Given the description of an element on the screen output the (x, y) to click on. 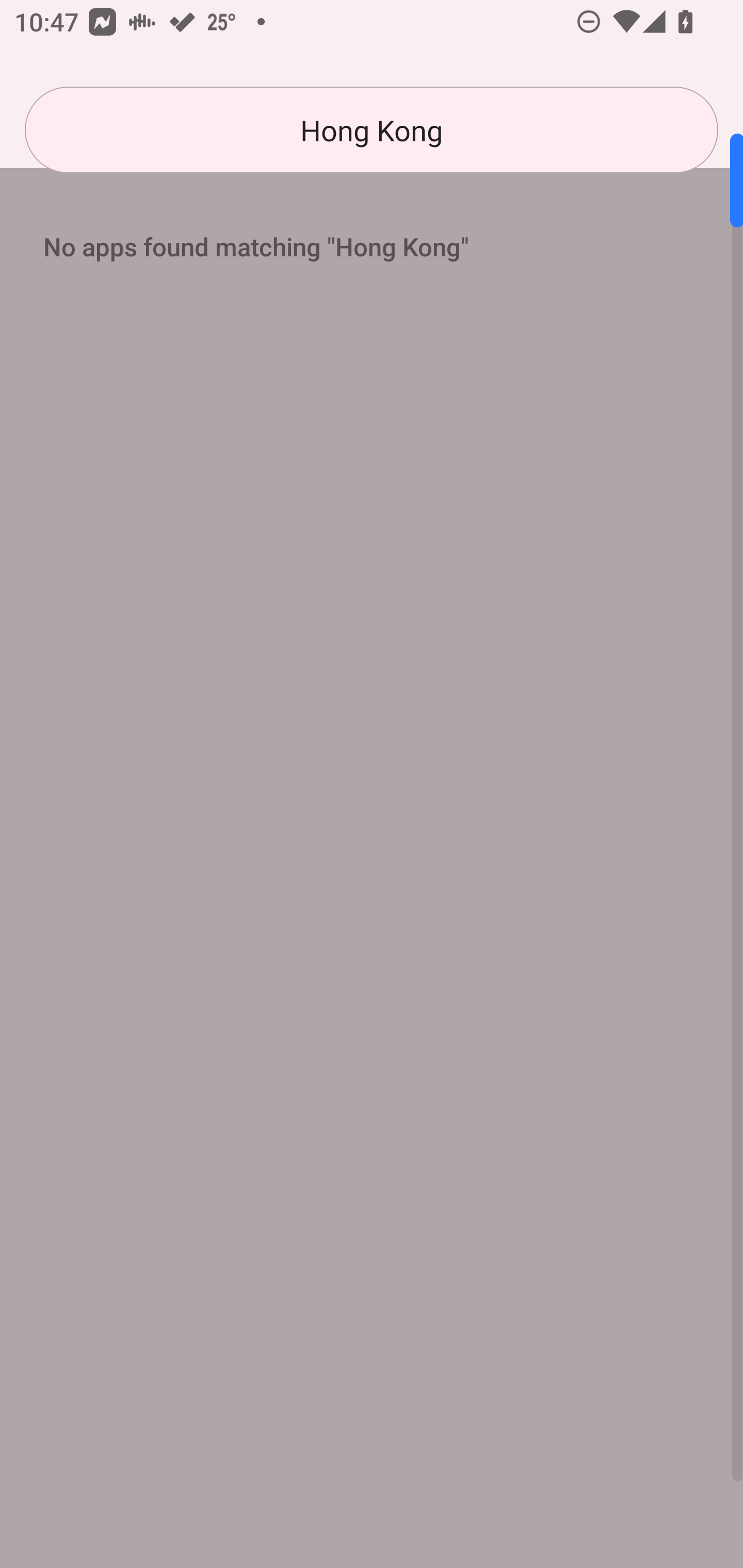
Hong Kong (371, 130)
